Given the description of an element on the screen output the (x, y) to click on. 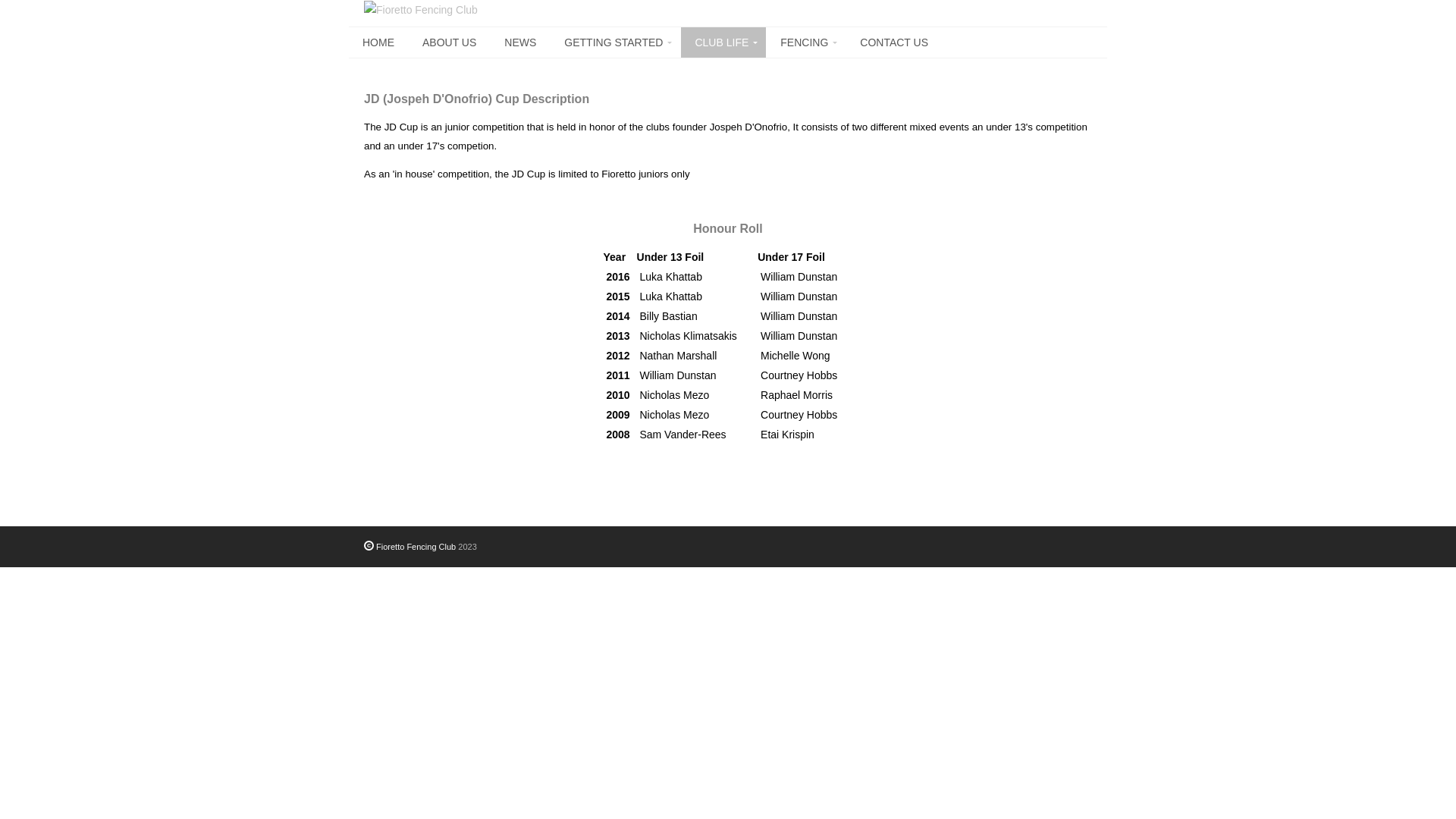
NEWS Element type: text (519, 42)
CONTACT US Element type: text (893, 42)
Fioretto Fencing Club Element type: text (409, 546)
FENCING Element type: text (805, 42)
GETTING STARTED Element type: text (615, 42)
HOME Element type: text (377, 42)
CLUB LIFE Element type: text (722, 42)
ABOUT US Element type: text (448, 42)
